Given the description of an element on the screen output the (x, y) to click on. 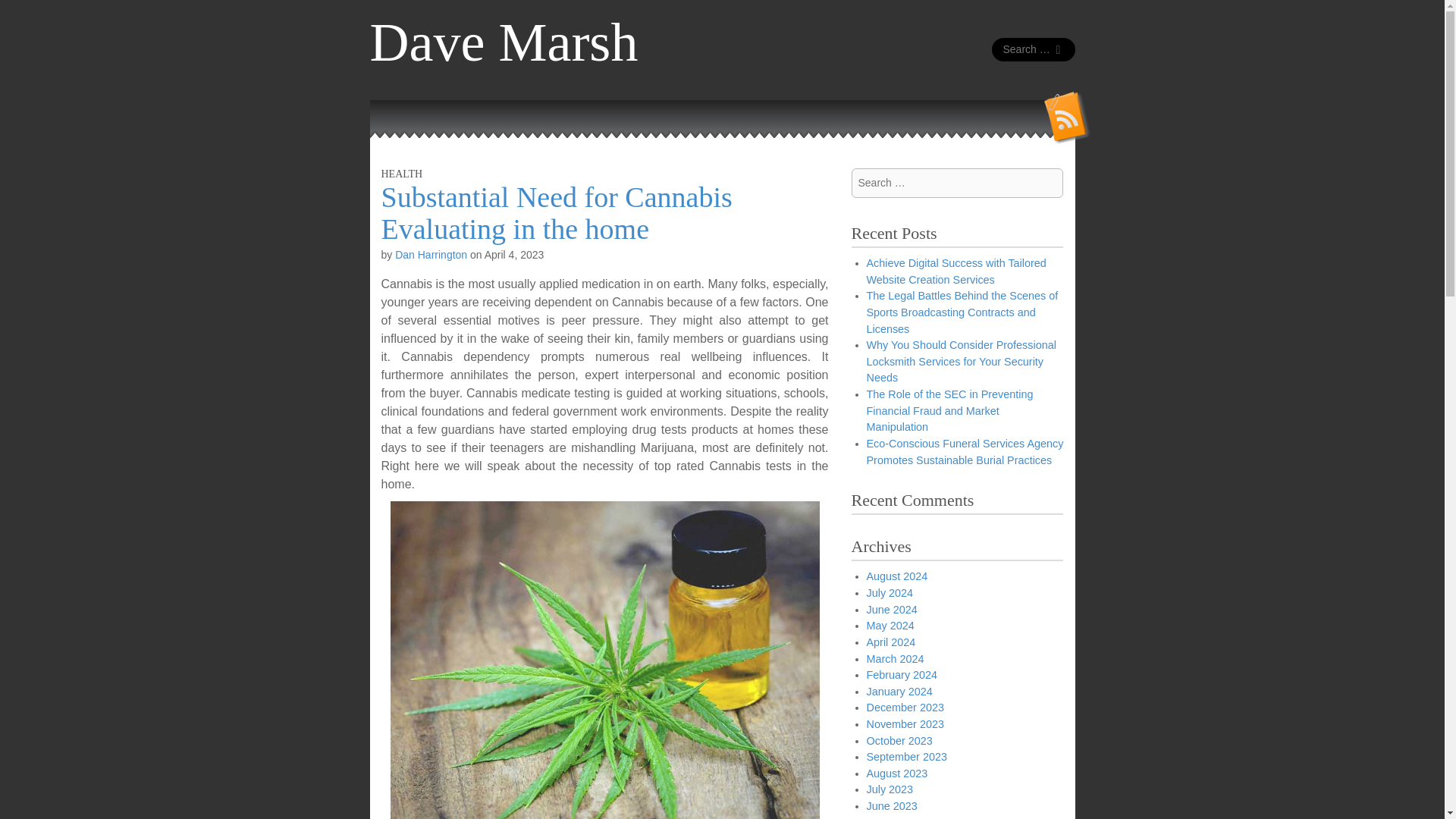
October 2023 (898, 740)
Dave Marsh (504, 42)
August 2023 (896, 773)
Search (23, 14)
January 2024 (898, 691)
July 2024 (889, 592)
